Given the description of an element on the screen output the (x, y) to click on. 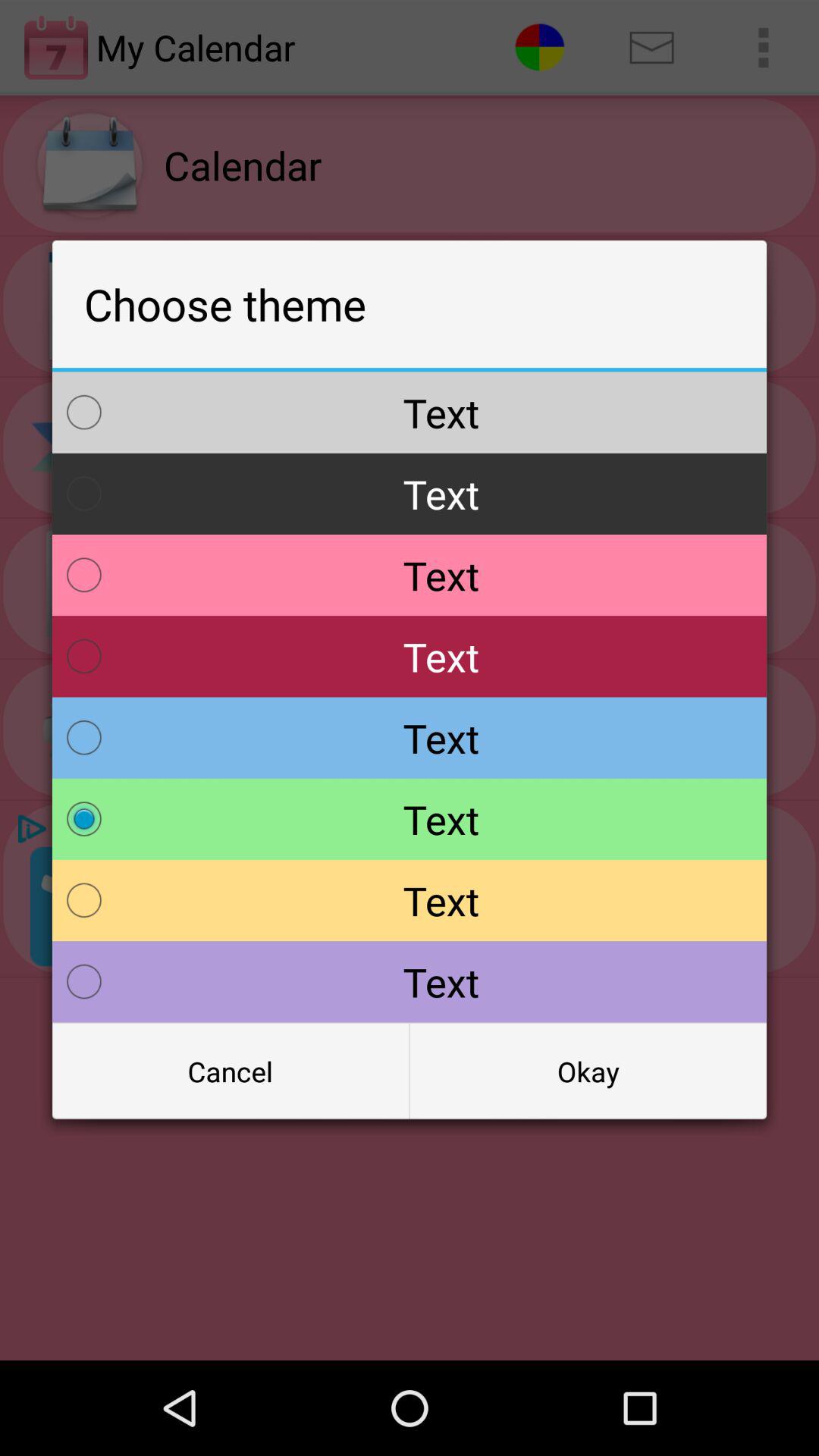
click item to the left of the okay (230, 1071)
